Given the description of an element on the screen output the (x, y) to click on. 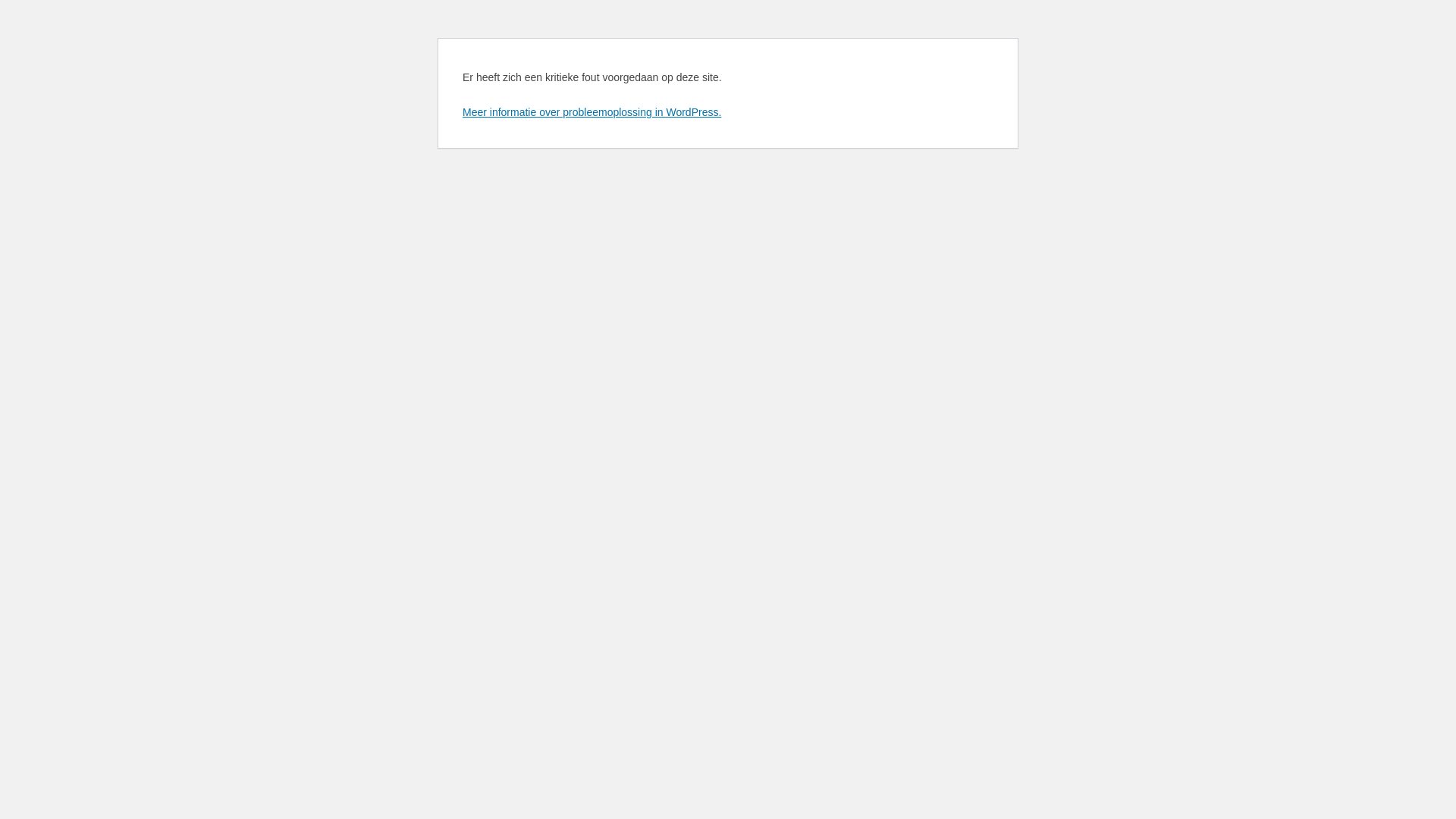
Meer informatie over probleemoplossing in WordPress. Element type: text (591, 112)
